Given the description of an element on the screen output the (x, y) to click on. 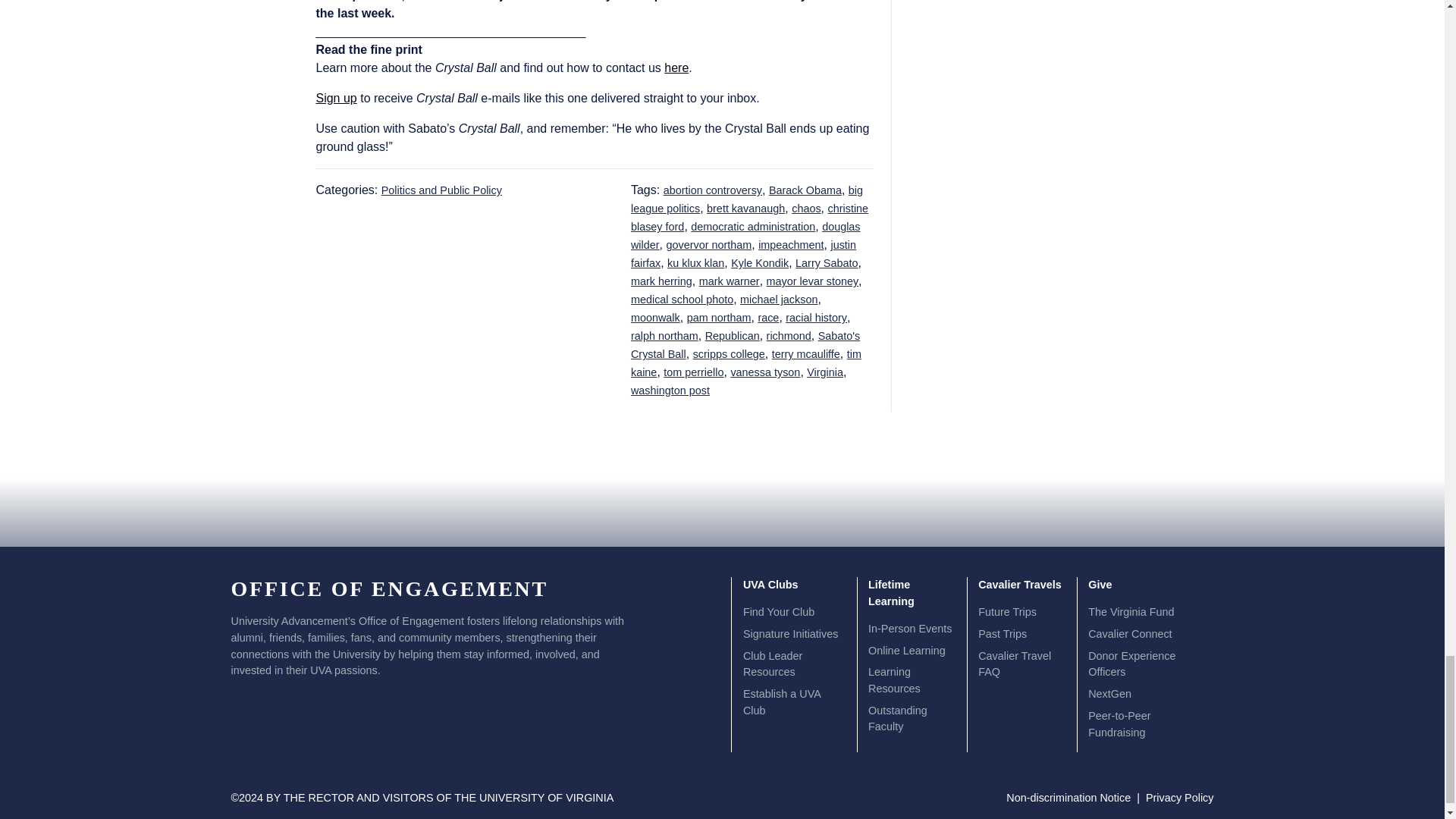
brett kavanaugh (745, 208)
christine blasey ford (748, 217)
here (675, 67)
chaos (806, 208)
big league politics (746, 199)
Politics and Public Policy (441, 190)
abortion controversy (712, 190)
Barack Obama (804, 190)
democratic administration (752, 226)
Sign up (335, 97)
